Given the description of an element on the screen output the (x, y) to click on. 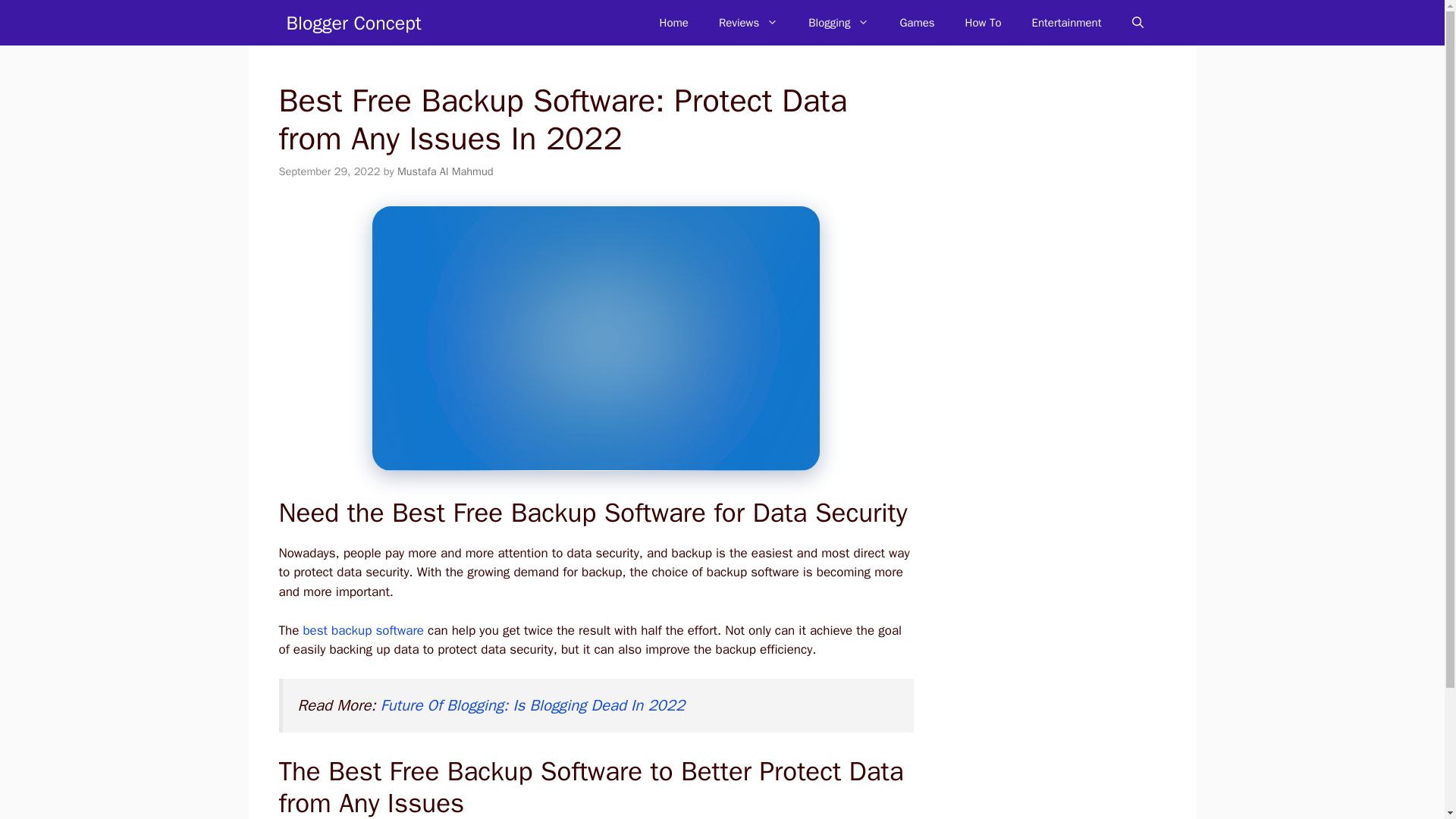
best backup software (362, 630)
Reviews (748, 22)
Mustafa Al Mahmud (445, 171)
Blogger Concept (354, 22)
Home (674, 22)
How To (983, 22)
Entertainment (1066, 22)
View all posts by Mustafa Al Mahmud (445, 171)
Games (916, 22)
Blogging (838, 22)
